Given the description of an element on the screen output the (x, y) to click on. 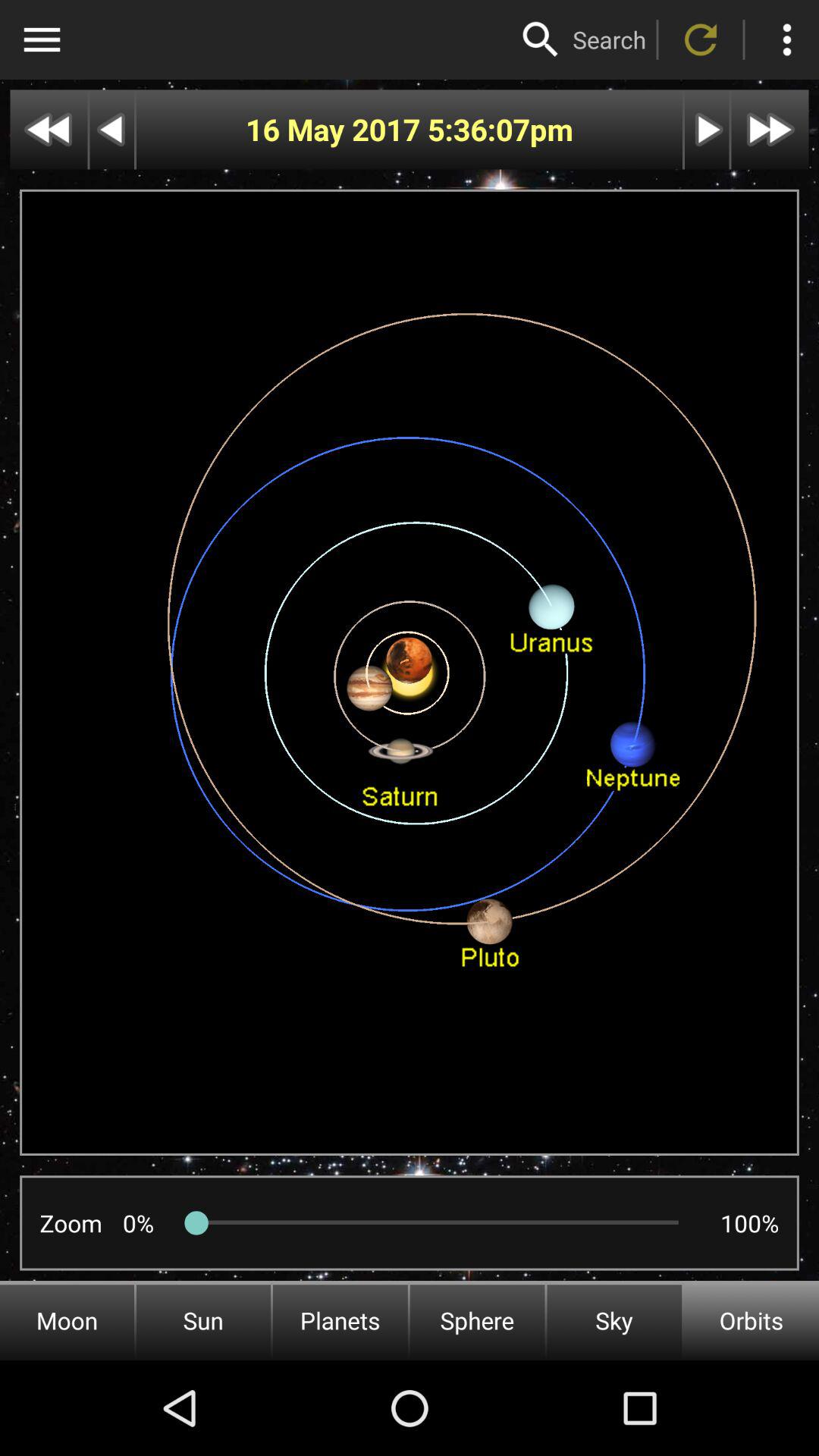
active upper right vertical dots menu (787, 39)
